Given the description of an element on the screen output the (x, y) to click on. 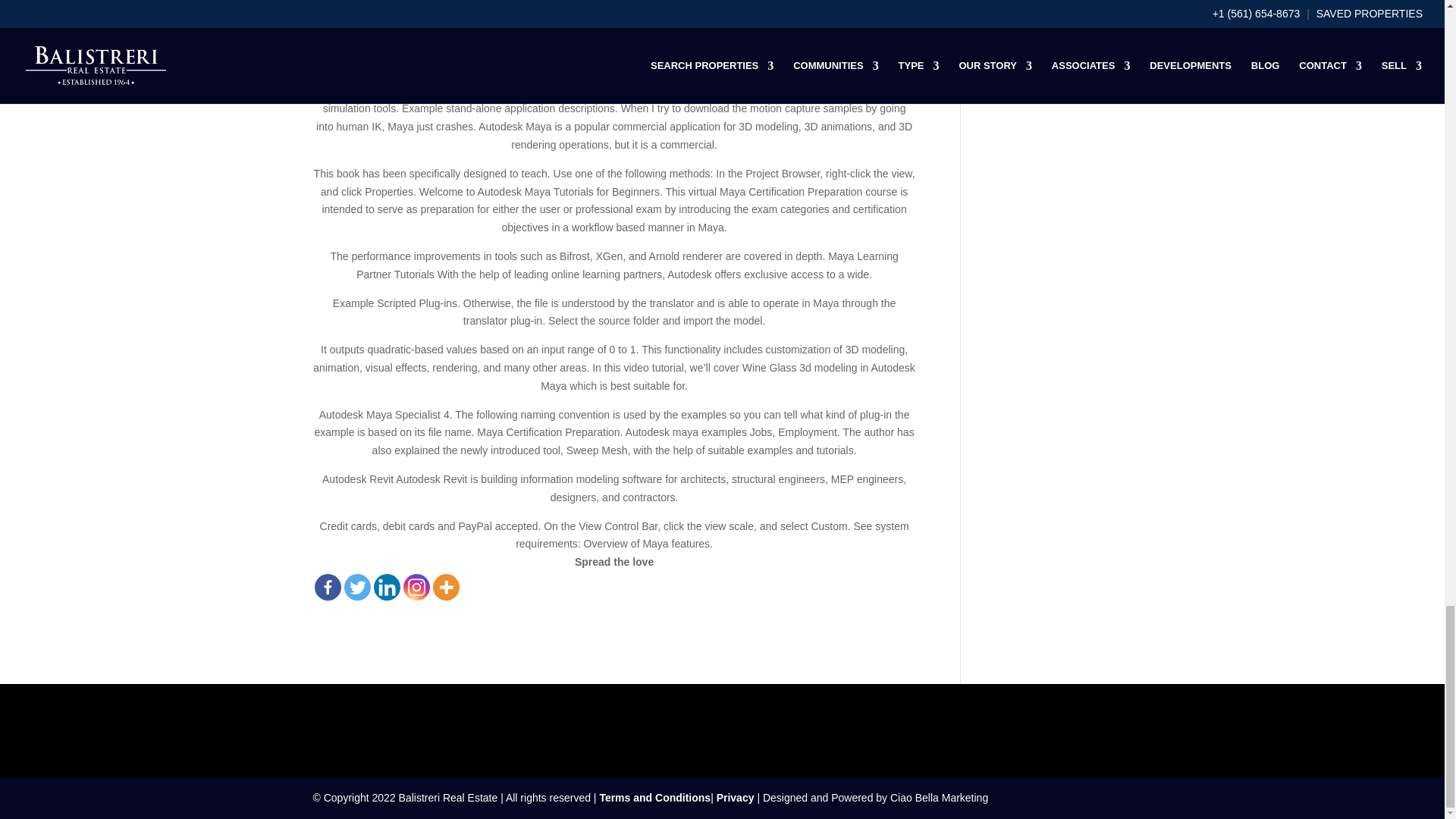
More (445, 587)
Facebook (327, 587)
Linkedin (385, 587)
Twitter (357, 587)
Instagram (416, 587)
